Given the description of an element on the screen output the (x, y) to click on. 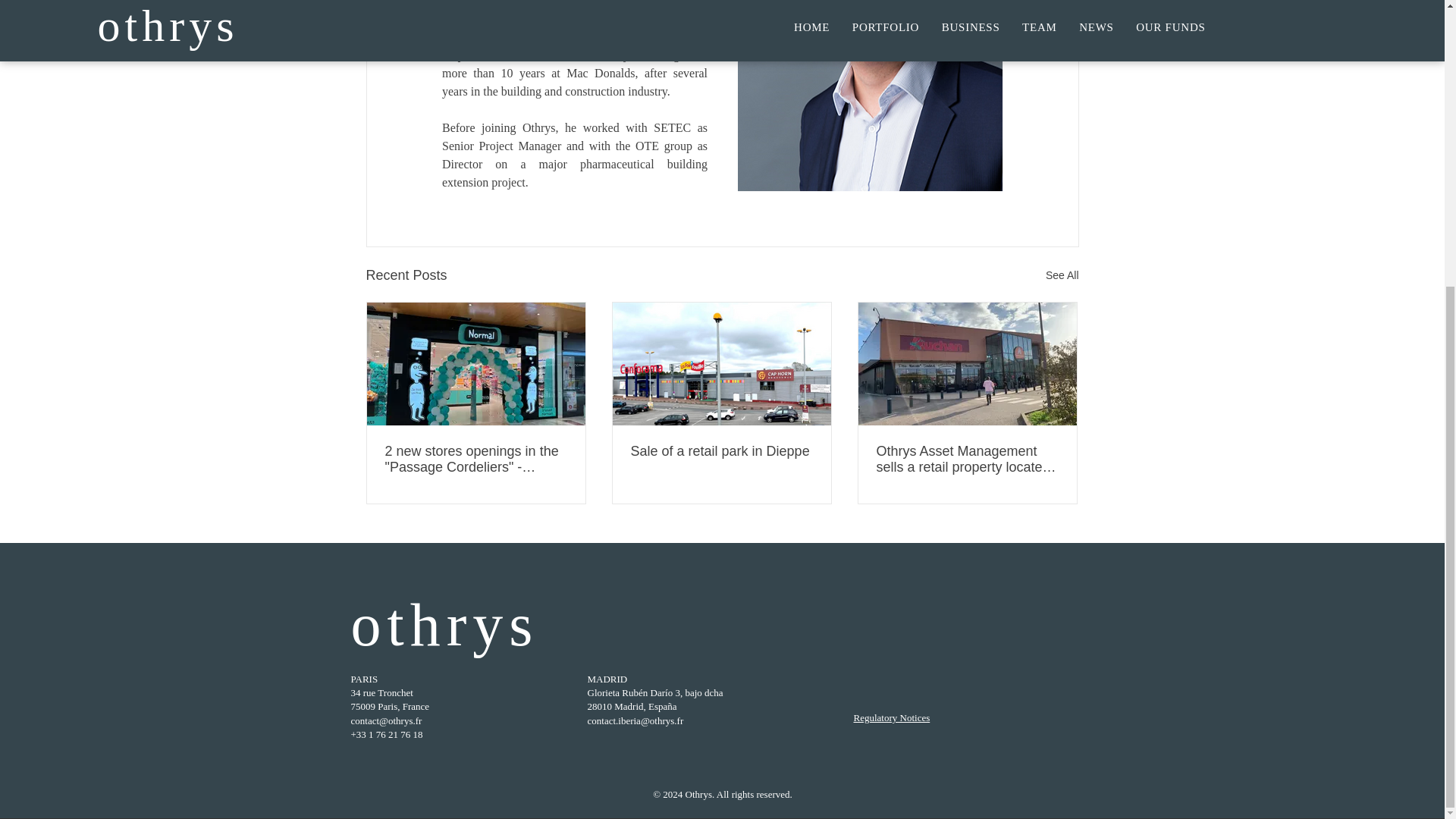
Regulatory Notices (891, 717)
Sale of a retail park in Dieppe (721, 451)
2 new stores openings in the "Passage Cordeliers" - Poitiers (476, 459)
See All (1061, 275)
